Given the description of an element on the screen output the (x, y) to click on. 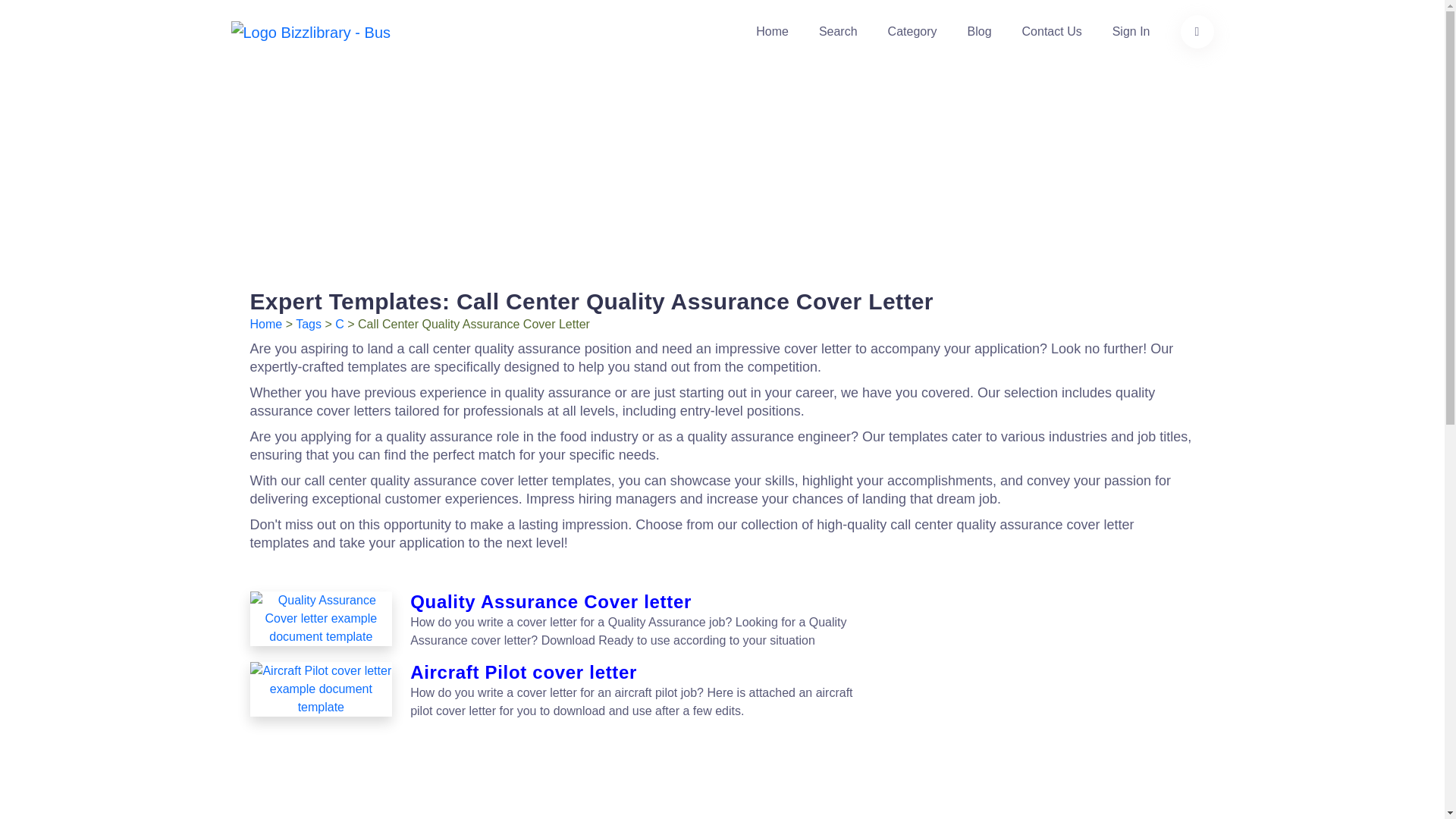
Sign In (1131, 31)
Homepage (772, 31)
Category (912, 31)
C (338, 323)
Blog (979, 31)
Quality Assurance Cover letter (641, 602)
Find your Template (837, 31)
Template Categories (912, 31)
Contact Us (1051, 31)
Aircraft Pilot cover letter (641, 672)
Template Blog (979, 31)
Contact Informations (1051, 31)
Quality Assurance Cover letter (321, 618)
Home (266, 323)
